Given the description of an element on the screen output the (x, y) to click on. 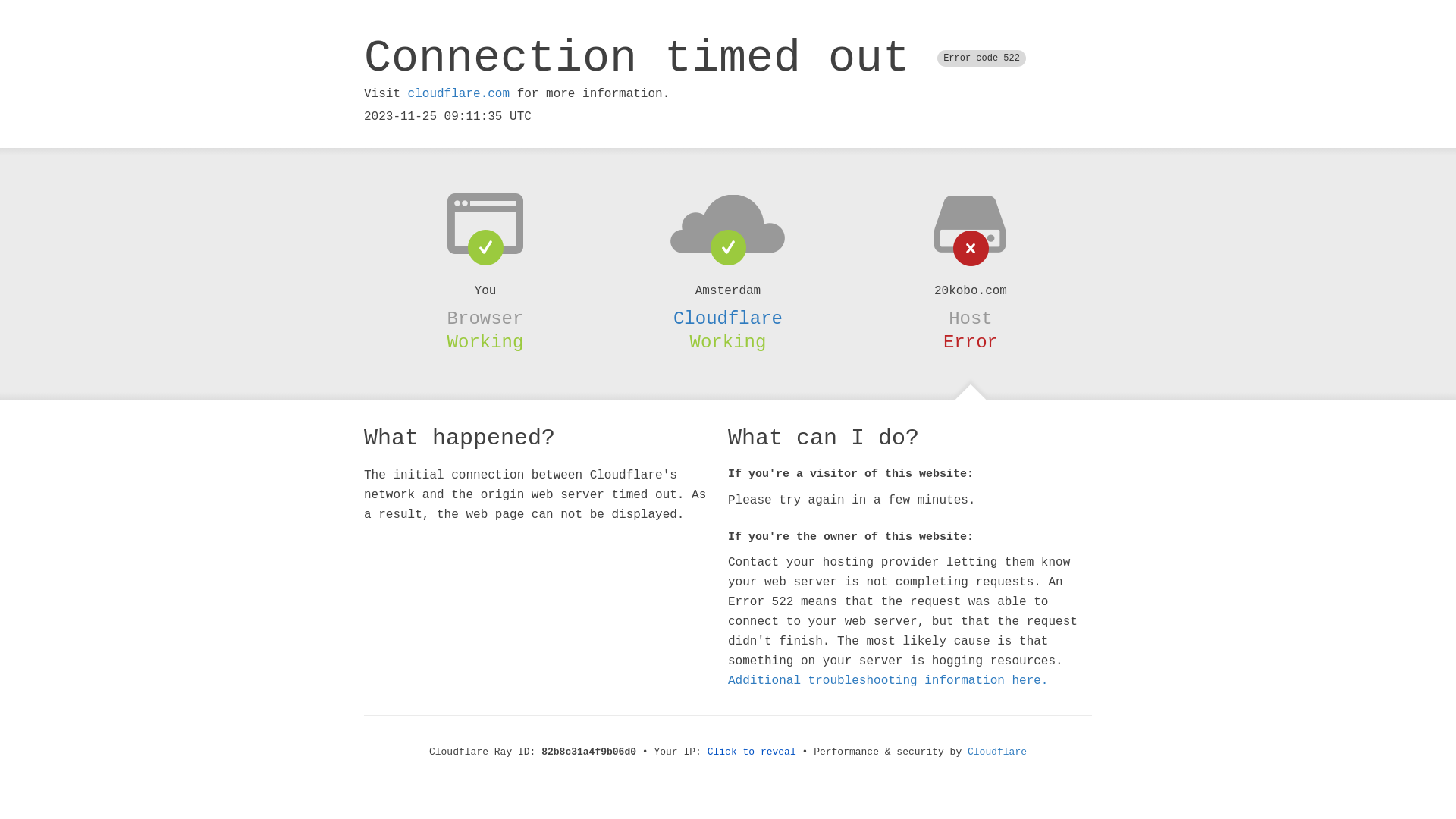
Additional troubleshooting information here. Element type: text (888, 680)
Click to reveal Element type: text (751, 751)
cloudflare.com Element type: text (458, 93)
Cloudflare Element type: text (727, 318)
Cloudflare Element type: text (996, 751)
